Given the description of an element on the screen output the (x, y) to click on. 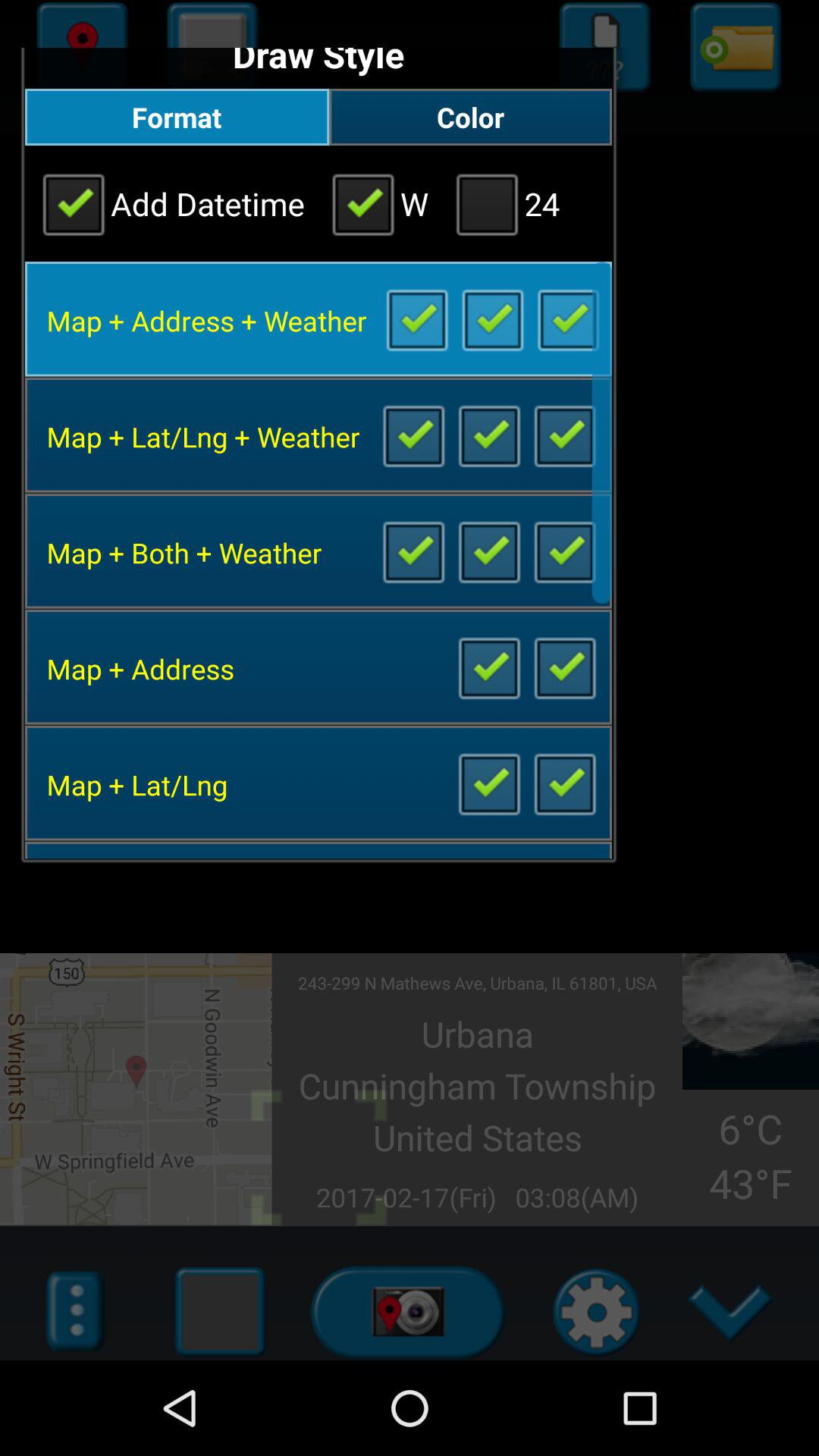
select the option (564, 550)
